Given the description of an element on the screen output the (x, y) to click on. 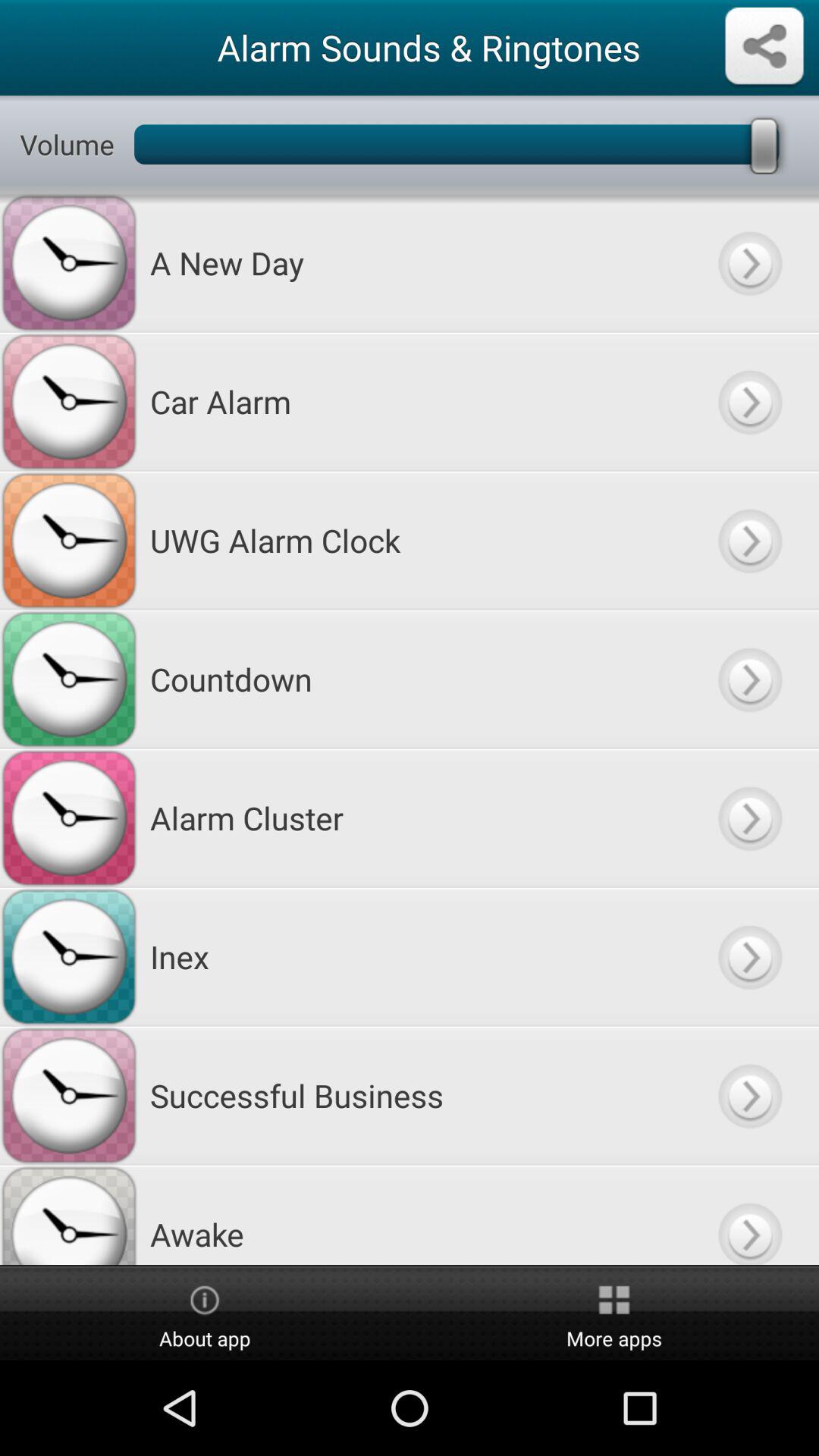
click awake music more details (749, 1214)
